Given the description of an element on the screen output the (x, y) to click on. 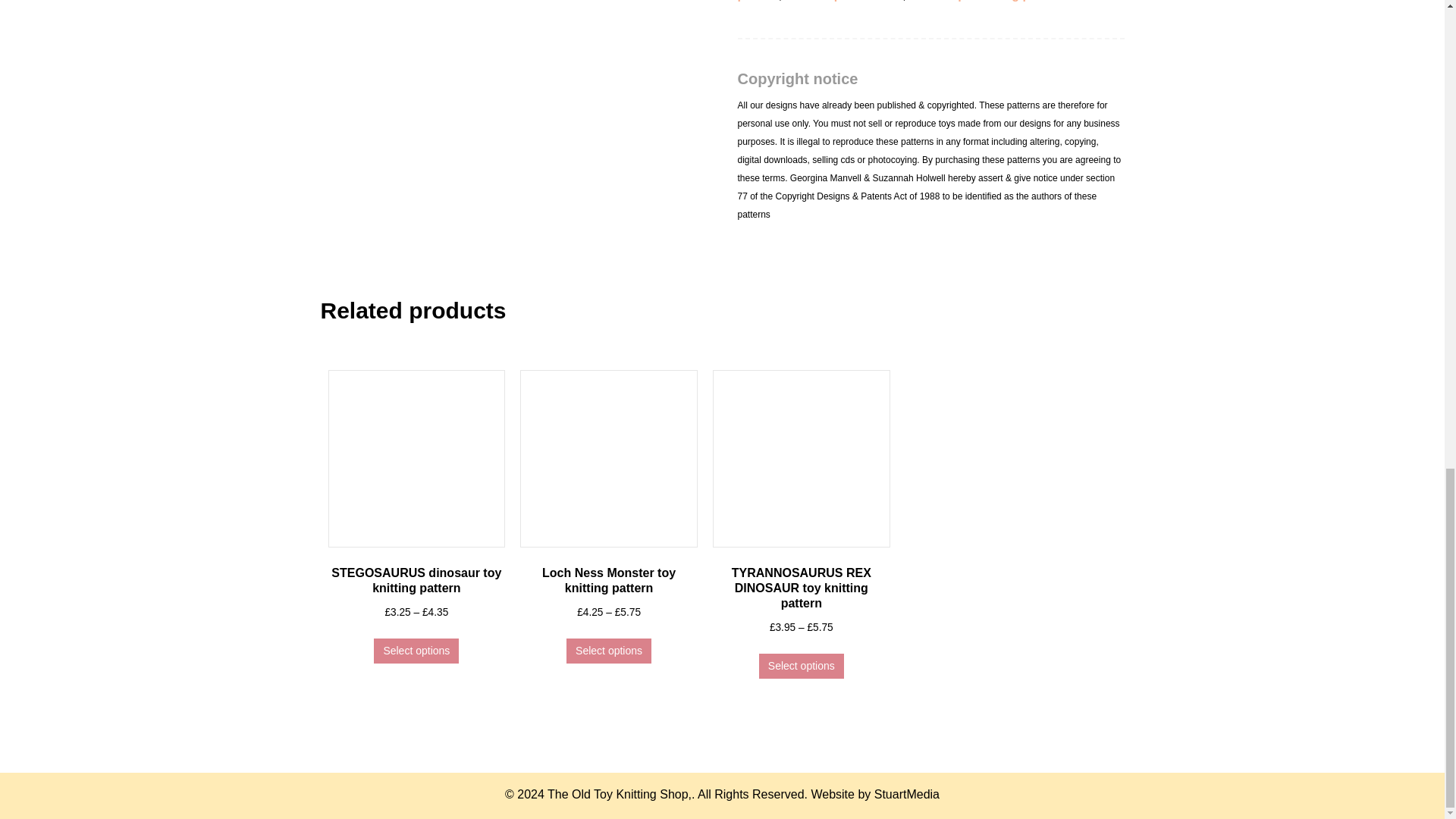
Select options (608, 650)
StuartMedia (907, 793)
Select options (801, 665)
Freelance Developer WordPress in Exeter (907, 793)
Select options (416, 650)
triceratops dinosaur (844, 0)
